Given the description of an element on the screen output the (x, y) to click on. 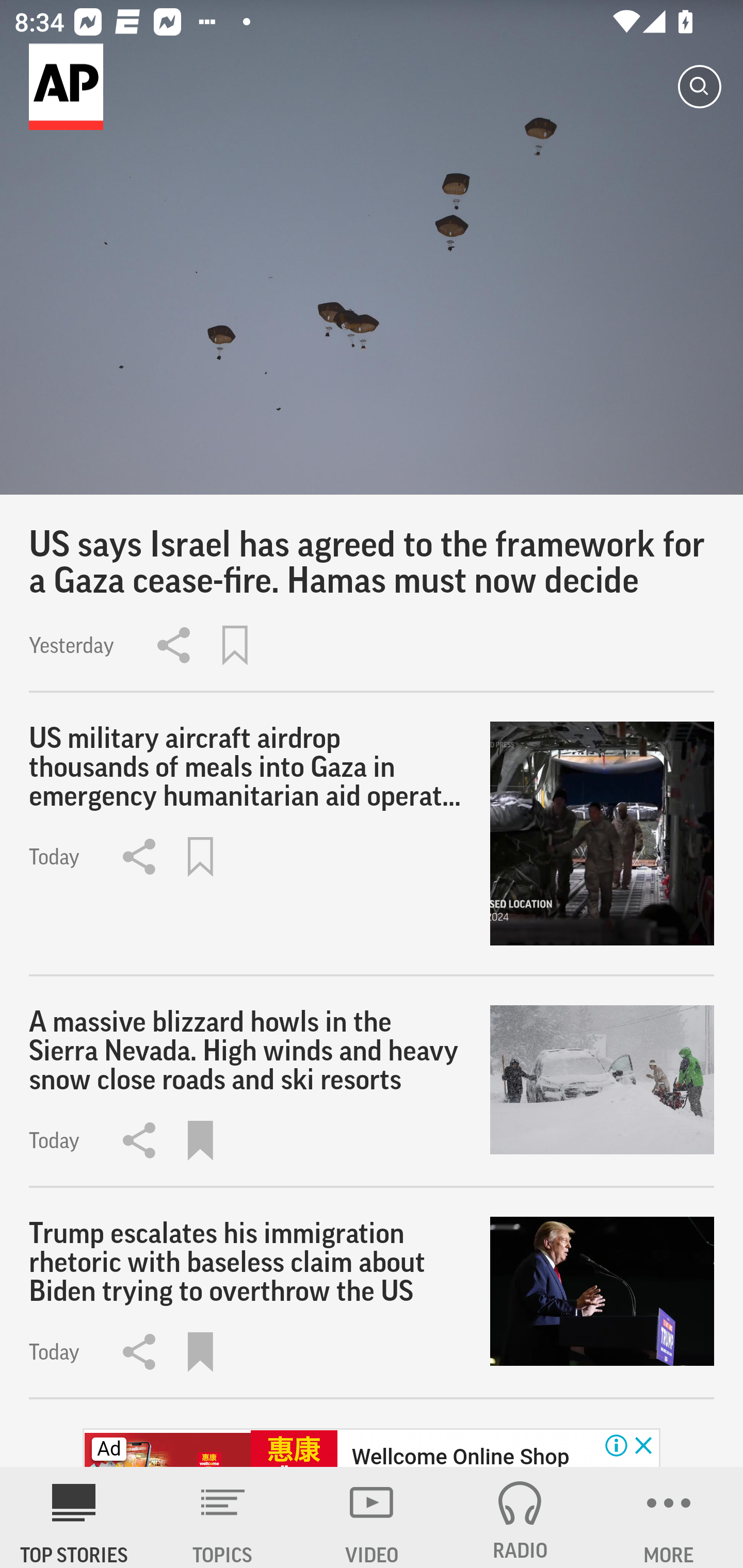
Wellcome Online Shop (459, 1454)
AP News TOP STORIES (74, 1517)
TOPICS (222, 1517)
VIDEO (371, 1517)
RADIO (519, 1517)
MORE (668, 1517)
